Given the description of an element on the screen output the (x, y) to click on. 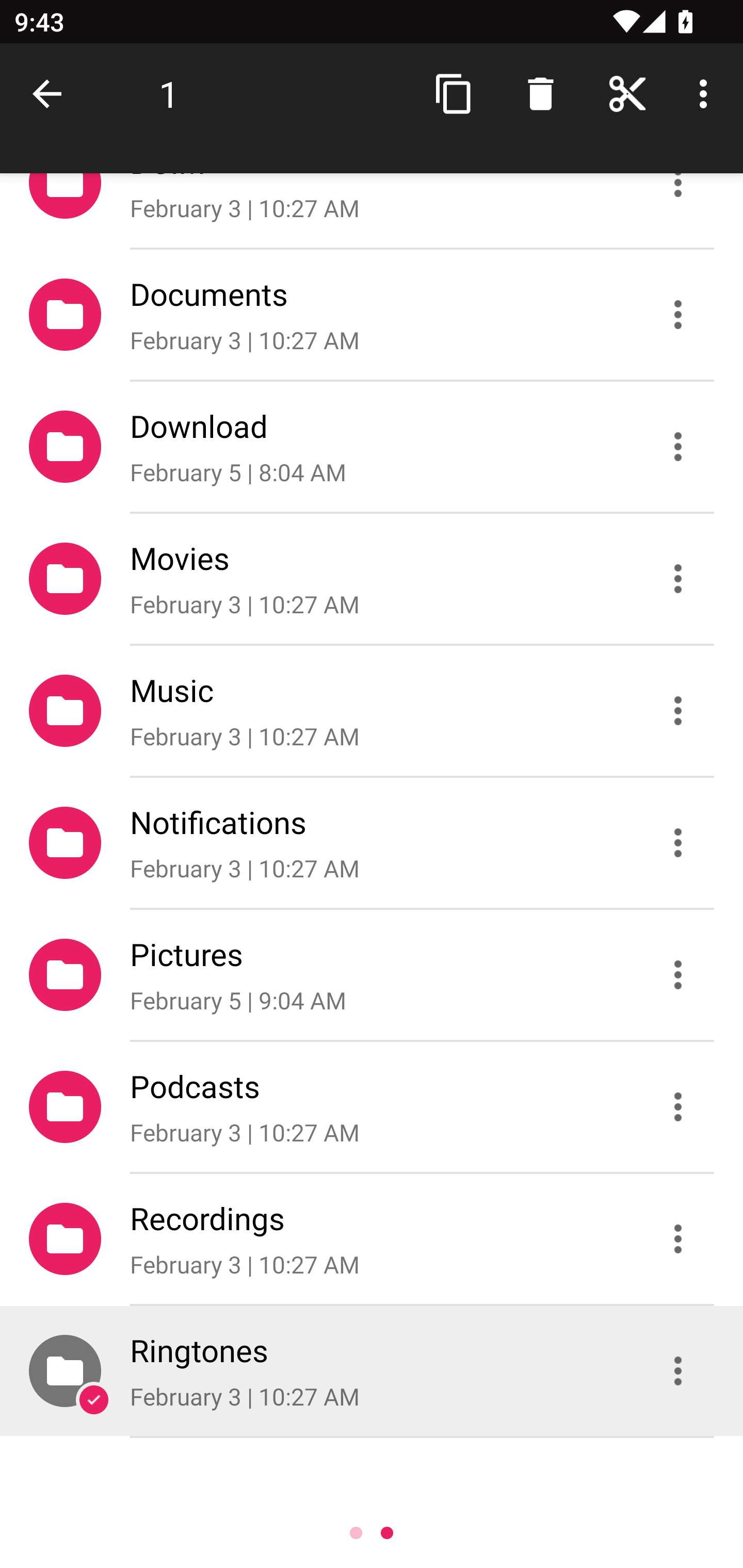
1 (169, 93)
Done (50, 93)
Copy (453, 93)
Delete (540, 93)
Cut (626, 93)
More options (706, 93)
DCIM February 3 | 10:27 AM (371, 210)
Documents February 3 | 10:27 AM (371, 314)
Download February 5 | 8:04 AM (371, 446)
Movies February 3 | 10:27 AM (371, 579)
Music February 3 | 10:27 AM (371, 711)
Notifications February 3 | 10:27 AM (371, 842)
Pictures February 5 | 9:04 AM (371, 974)
Podcasts February 3 | 10:27 AM (371, 1106)
Recordings February 3 | 10:27 AM (371, 1239)
Ringtones February 3 | 10:27 AM (371, 1371)
